Given the description of an element on the screen output the (x, y) to click on. 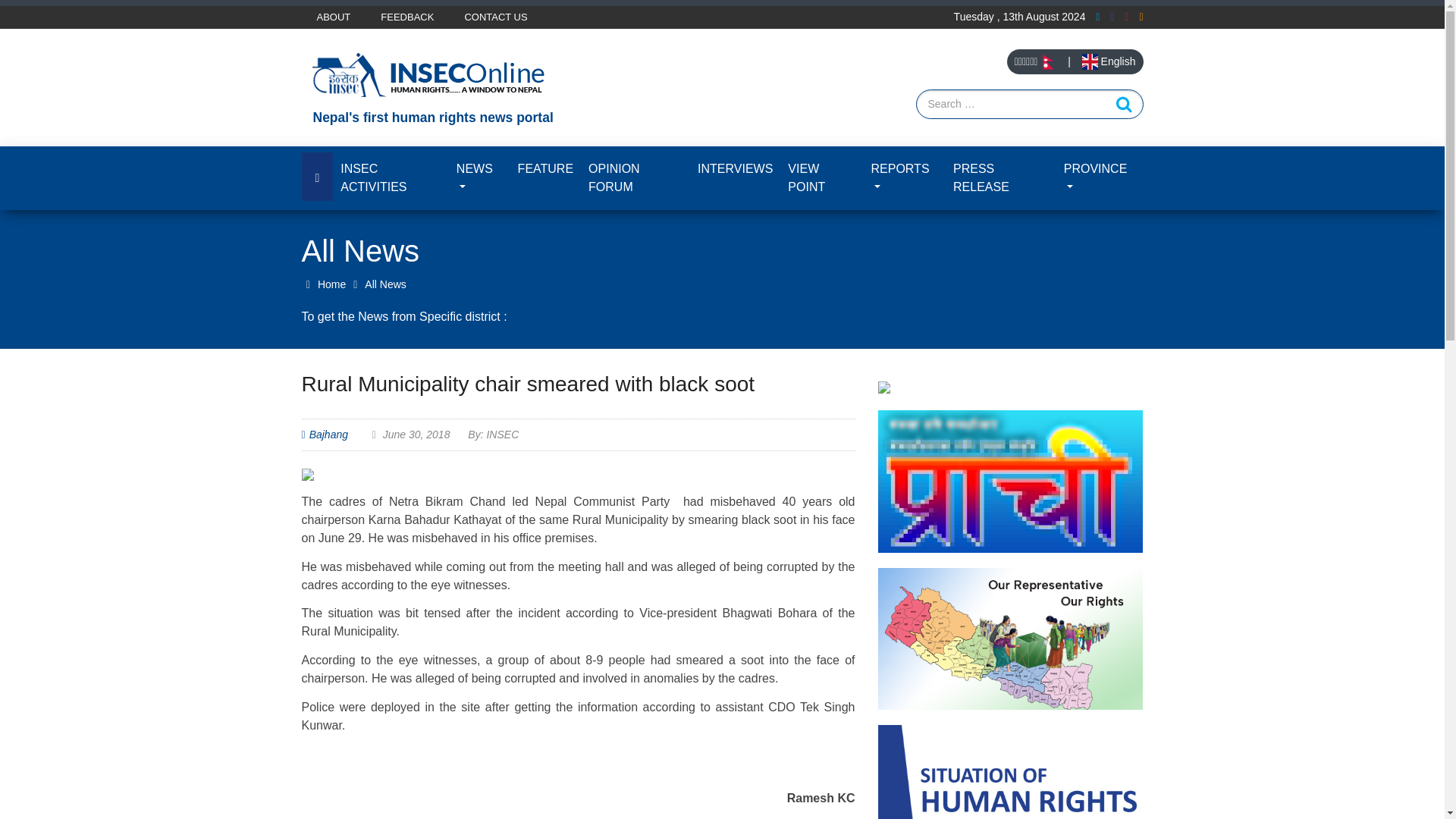
OPINION FORUM (635, 177)
PRESS RELEASE (1000, 177)
VIEW POINT (821, 177)
View Point (821, 177)
INTERVIEWS (735, 168)
CONTACT US (494, 16)
Reports (903, 177)
All News (385, 284)
Insec Activities (390, 177)
FEATURE (545, 168)
